Given the description of an element on the screen output the (x, y) to click on. 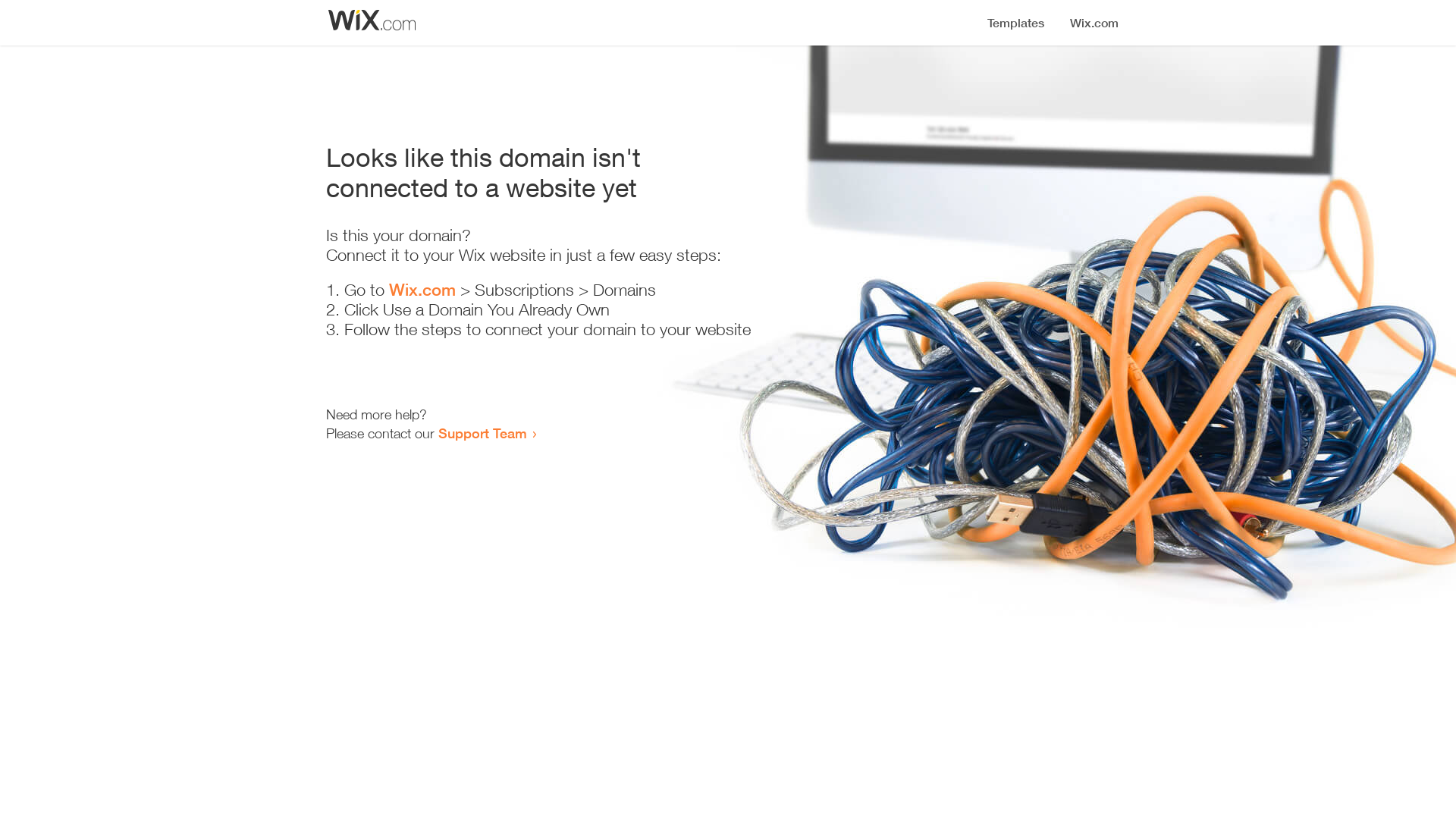
Support Team Element type: text (482, 432)
Wix.com Element type: text (422, 289)
